Given the description of an element on the screen output the (x, y) to click on. 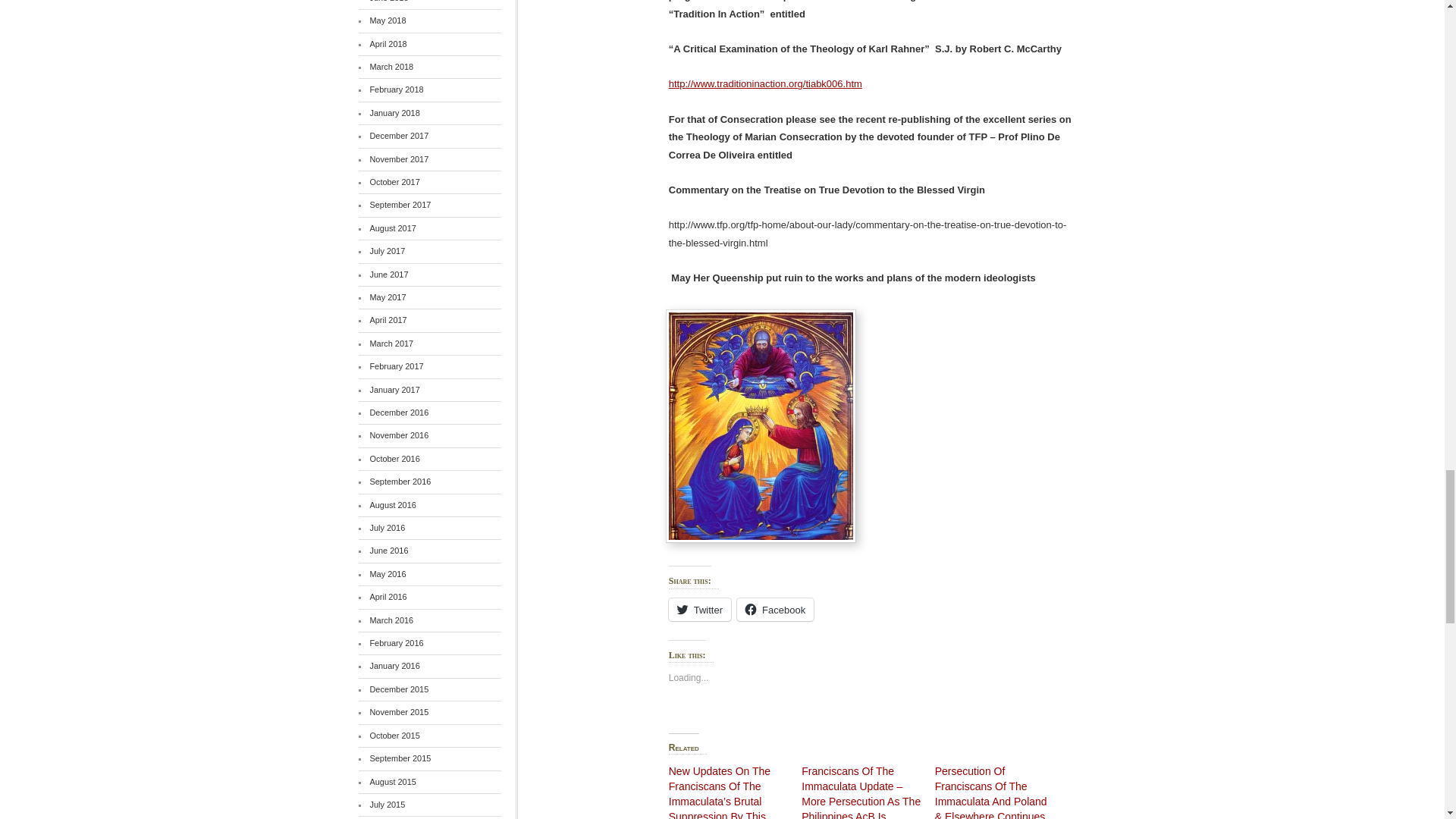
Twitter (699, 609)
Click to share on Facebook (774, 609)
Click to share on Twitter (699, 609)
Facebook (774, 609)
